Given the description of an element on the screen output the (x, y) to click on. 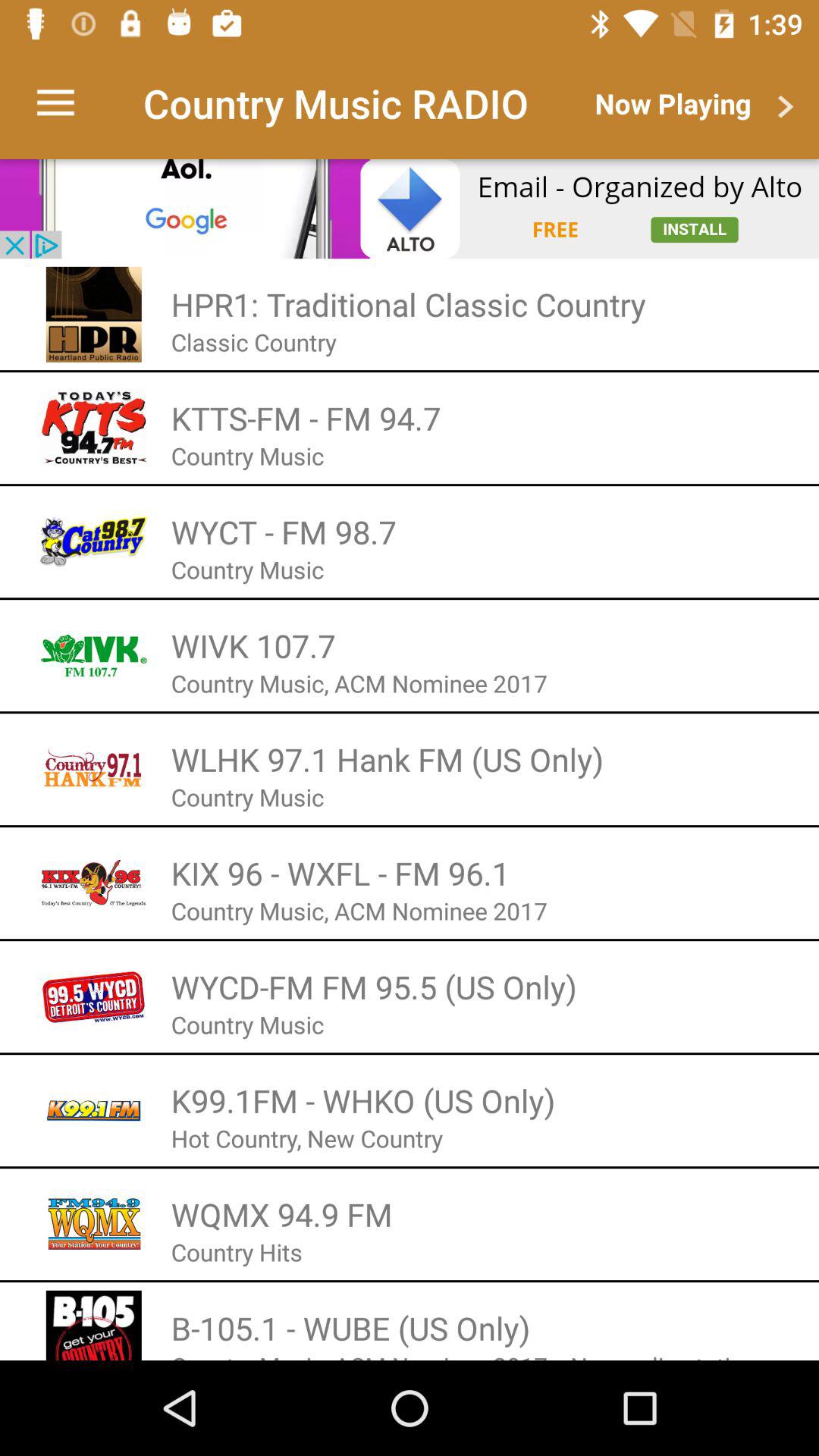
switch autoplay option button (409, 208)
